Given the description of an element on the screen output the (x, y) to click on. 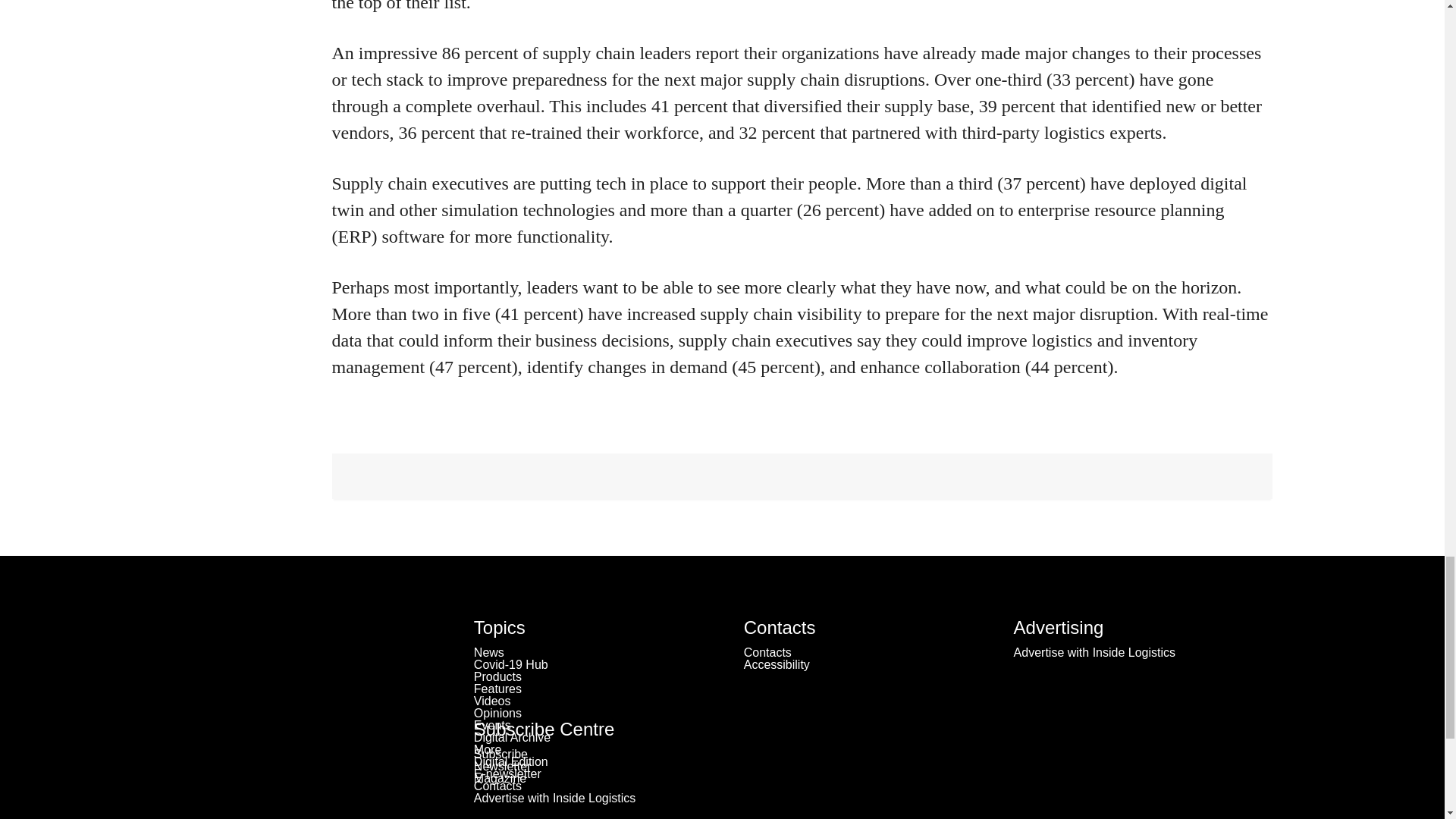
Magazine (499, 778)
Newsletter (502, 766)
Subscribe (500, 753)
